Given the description of an element on the screen output the (x, y) to click on. 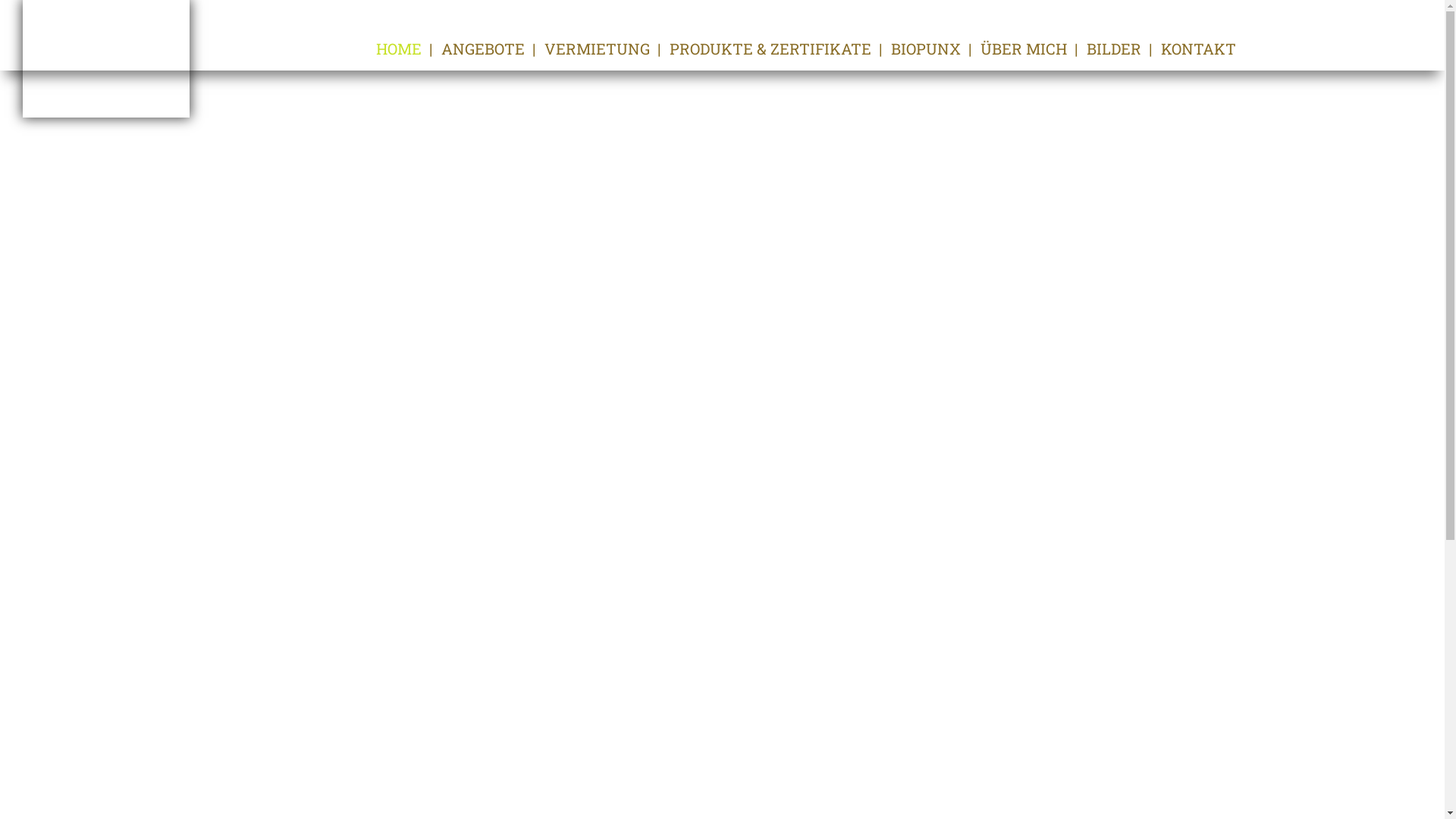
PRODUKTE & ZERTIFIKATE Element type: text (769, 48)
BIOPUNX Element type: text (925, 48)
ANGEBOTE Element type: text (482, 48)
KONTAKT Element type: text (1197, 48)
VERMIETUNG Element type: text (596, 48)
HOME Element type: text (398, 48)
BILDER Element type: text (1112, 48)
